Given the description of an element on the screen output the (x, y) to click on. 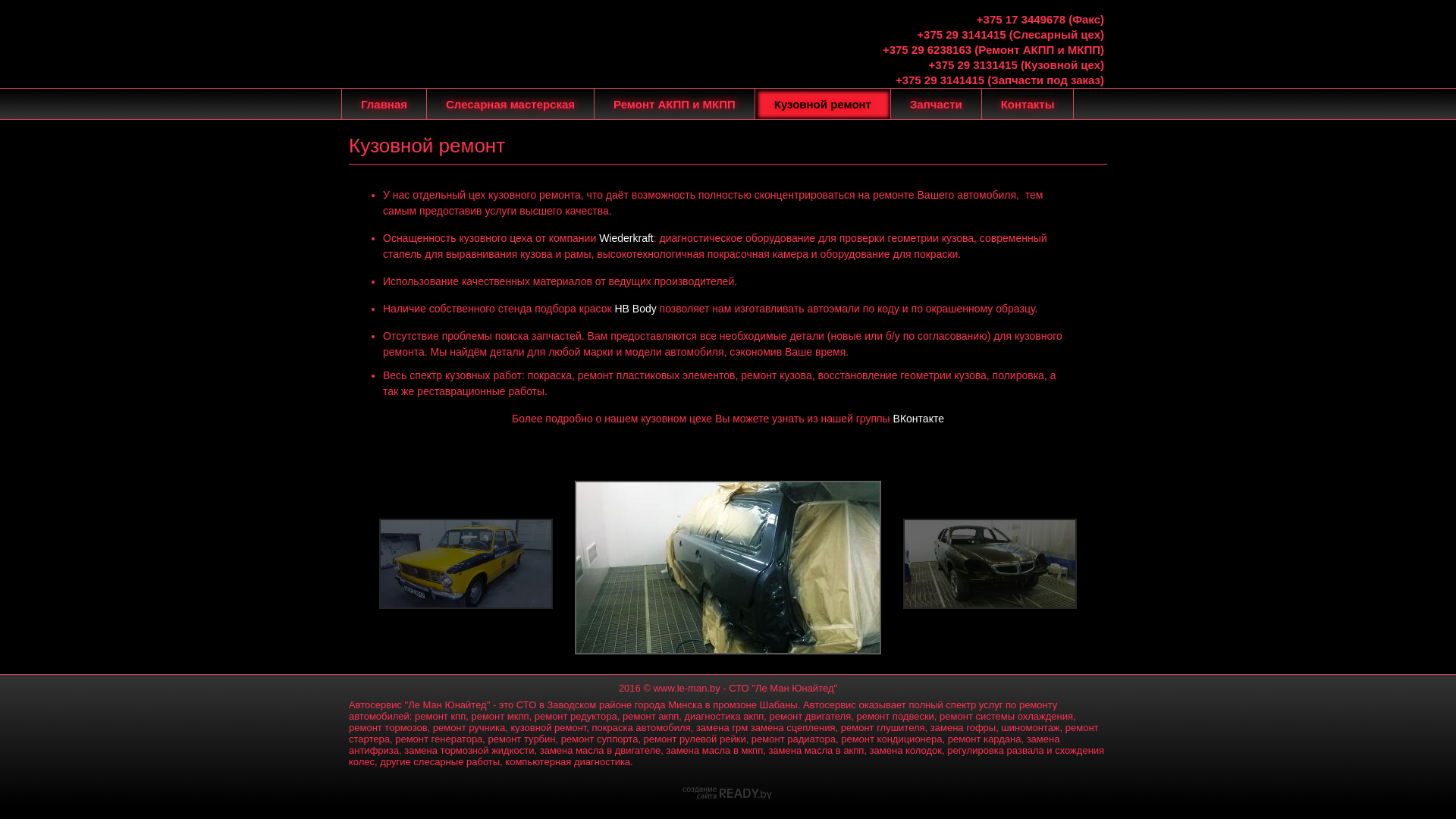
HB Body Element type: text (634, 308)
Wiederkraft Element type: text (626, 238)
